Given the description of an element on the screen output the (x, y) to click on. 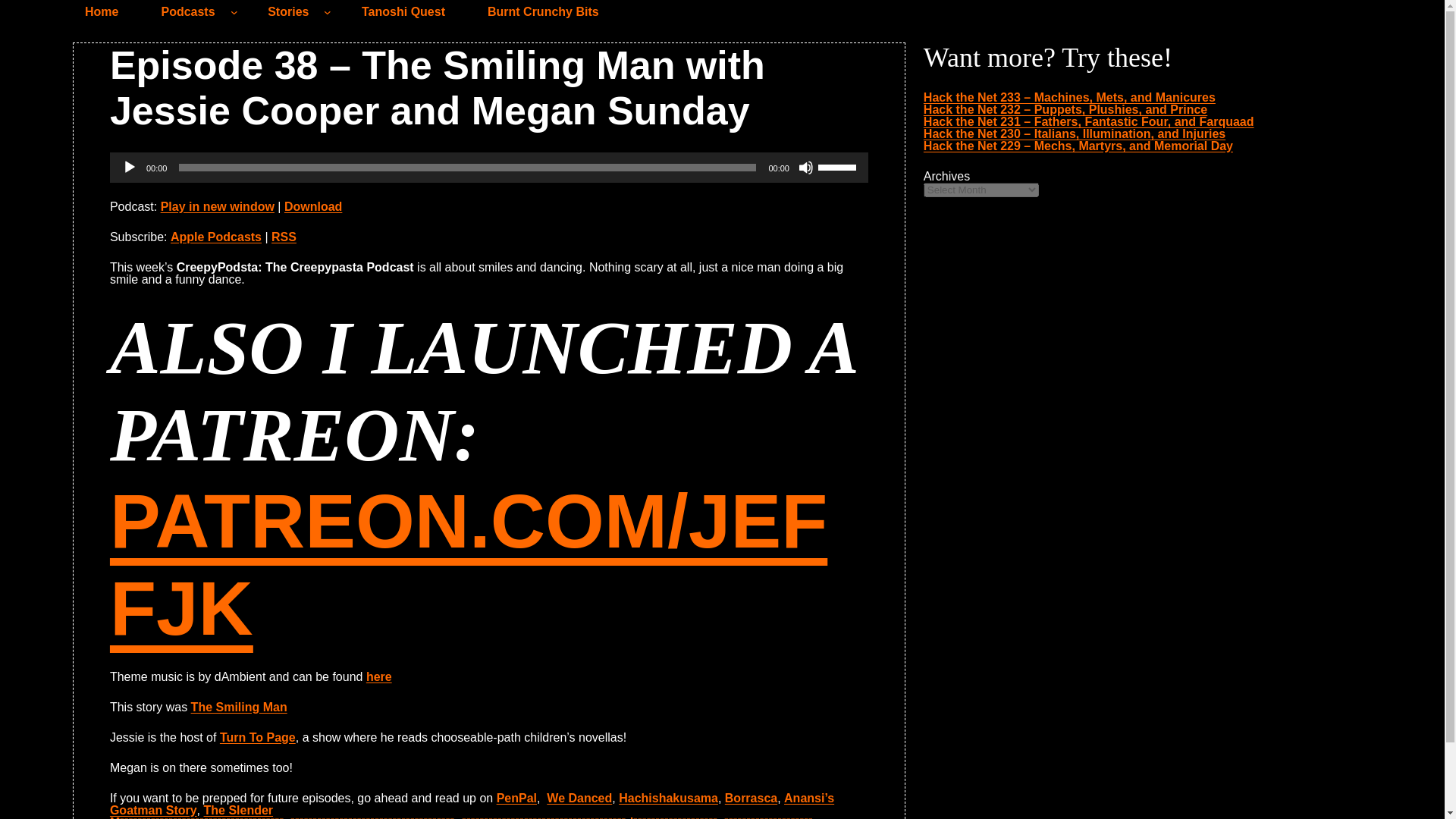
Subscribe on Apple Podcasts (216, 236)
Borrasca (751, 797)
Play in new window (217, 205)
Subscribe via RSS (283, 236)
Play in new window (217, 205)
Podcasts (187, 12)
The Smiling Man (238, 707)
RSS (283, 236)
Mute (805, 167)
Stories (288, 12)
Tanoshi Quest (403, 12)
here (378, 676)
Hachishakusama (667, 797)
Apple Podcasts (216, 236)
Play (129, 167)
